Given the description of an element on the screen output the (x, y) to click on. 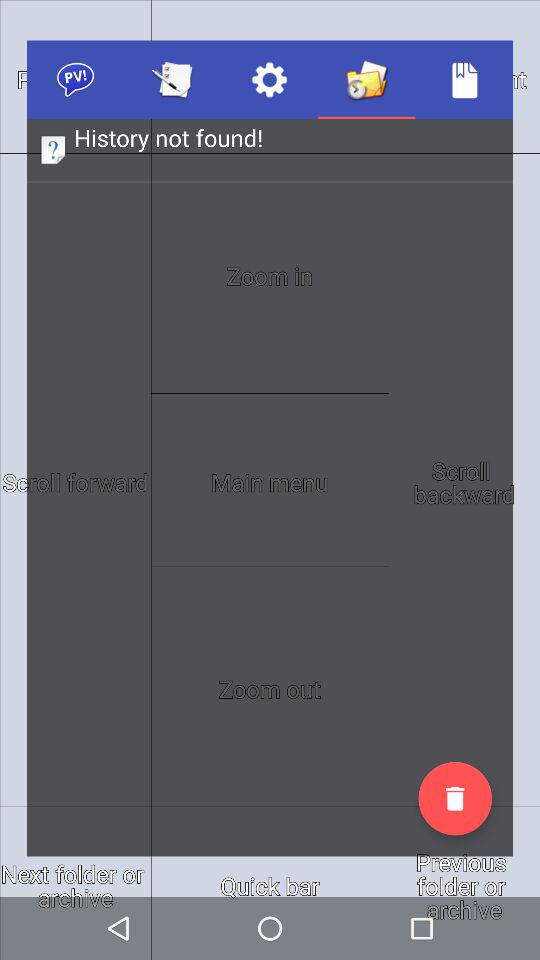
trash (455, 798)
